Given the description of an element on the screen output the (x, y) to click on. 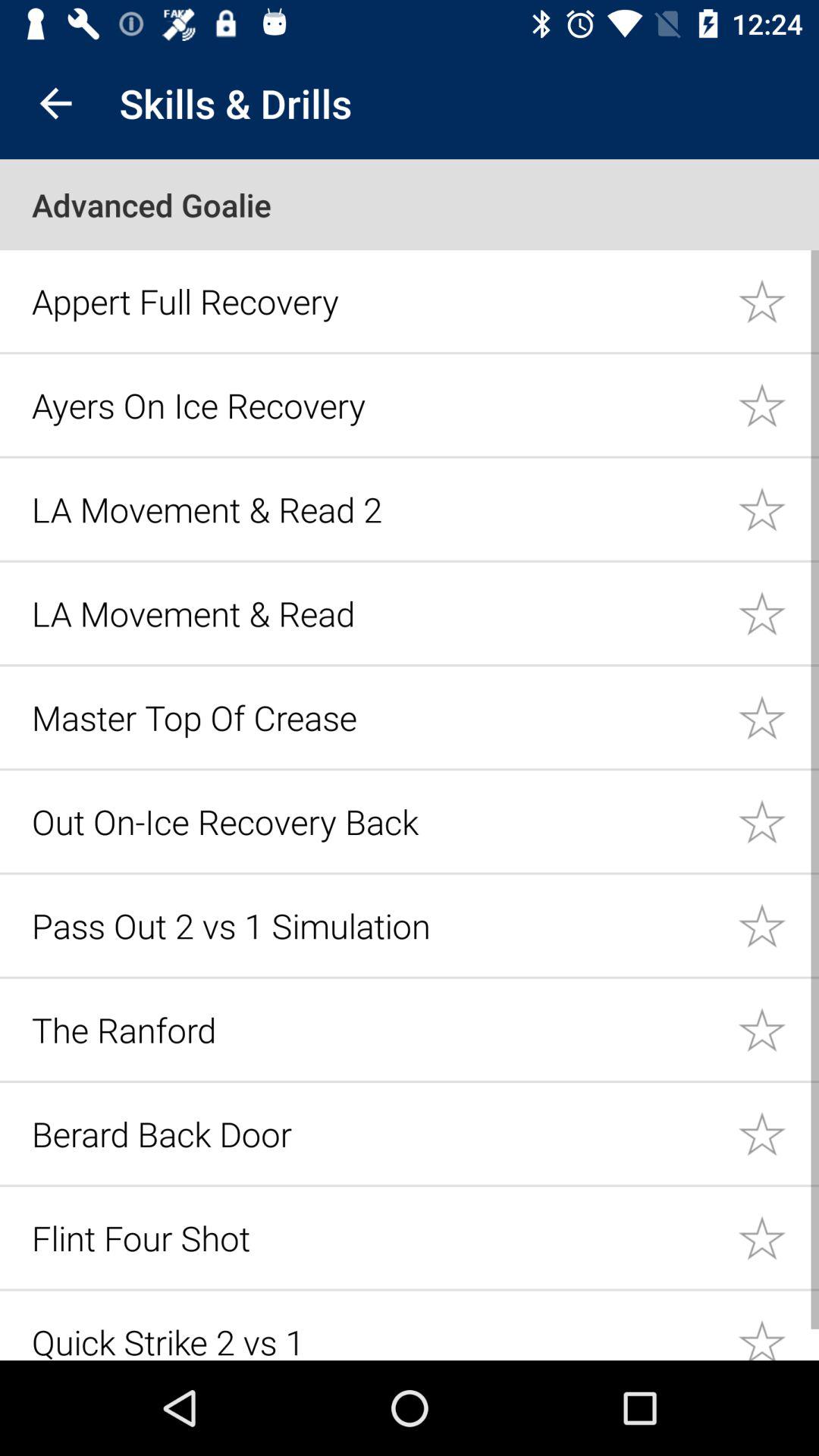
toggle favorite (778, 613)
